Given the description of an element on the screen output the (x, y) to click on. 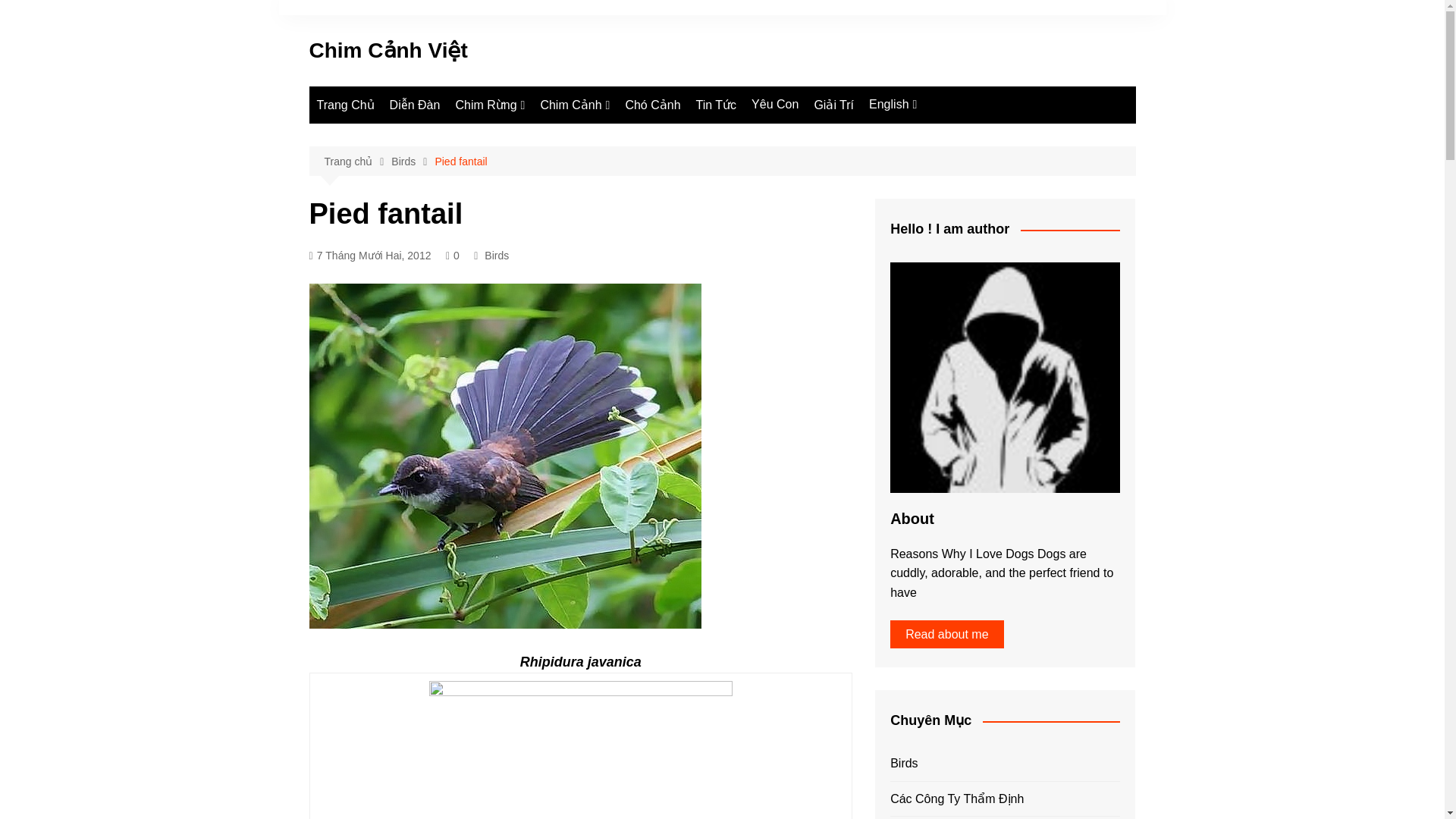
Pied fantail (459, 161)
English (892, 104)
Love Dog (944, 135)
Birds (412, 161)
Birds (944, 160)
Finch (615, 135)
